Given the description of an element on the screen output the (x, y) to click on. 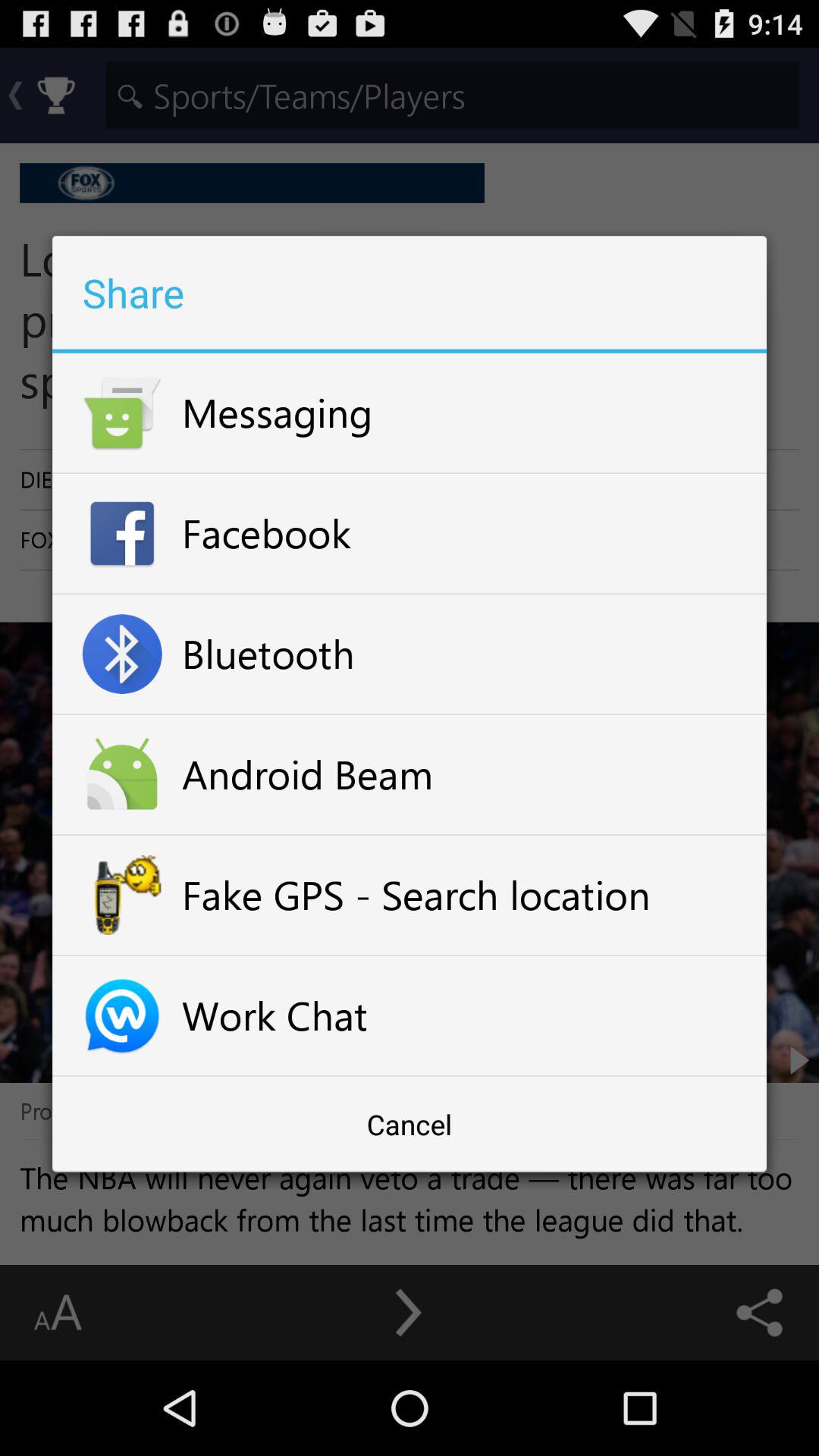
choose the cancel (409, 1124)
